Given the description of an element on the screen output the (x, y) to click on. 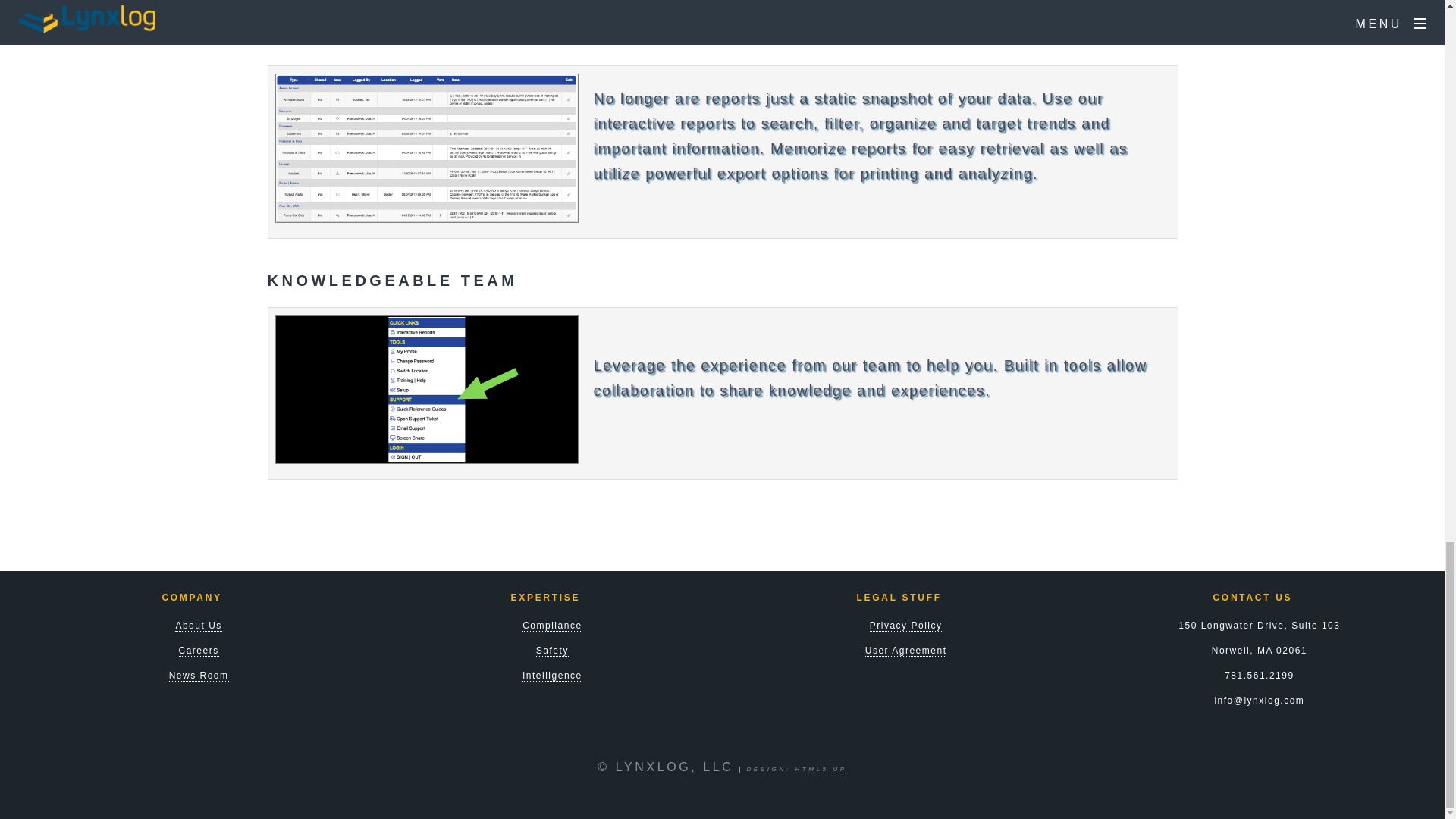
Privacy Policy (905, 625)
Careers (199, 650)
About Us (197, 625)
Intelligence (552, 675)
User Agreement (905, 650)
HTML5 UP (819, 769)
Compliance (551, 625)
News Room (198, 675)
Safety (552, 650)
